Given the description of an element on the screen output the (x, y) to click on. 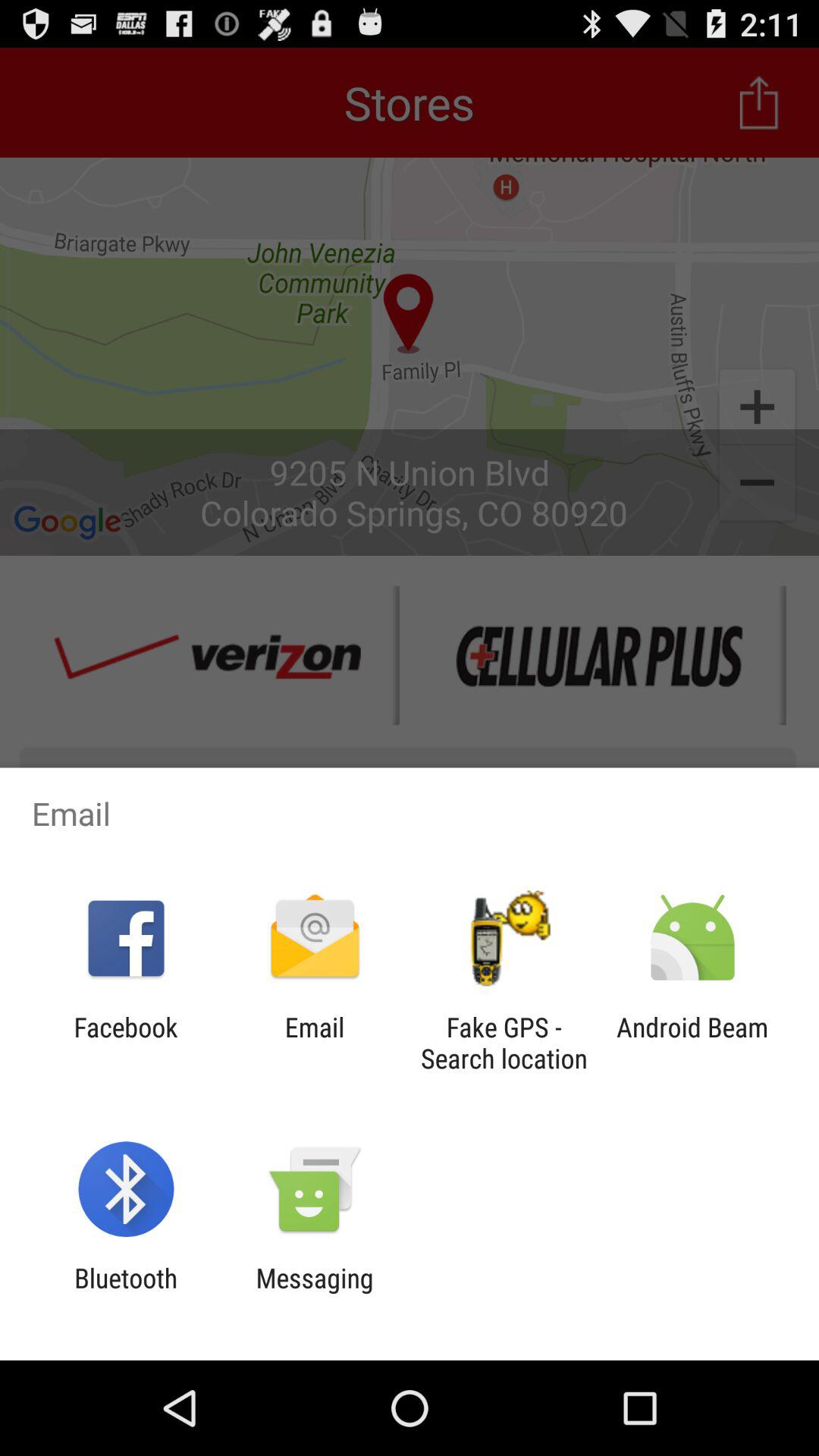
scroll to the android beam icon (692, 1042)
